Given the description of an element on the screen output the (x, y) to click on. 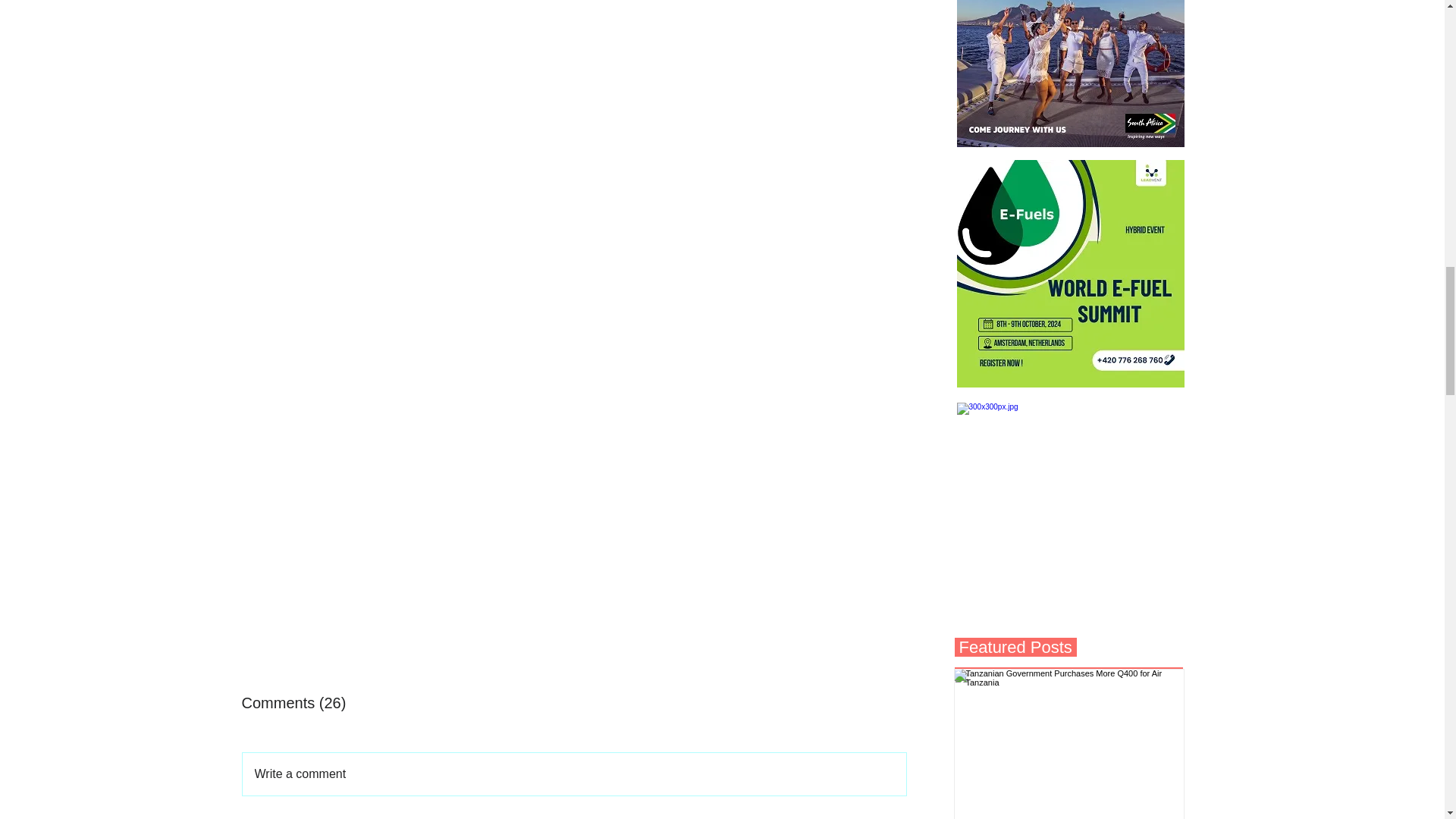
Write a comment (574, 773)
